Given the description of an element on the screen output the (x, y) to click on. 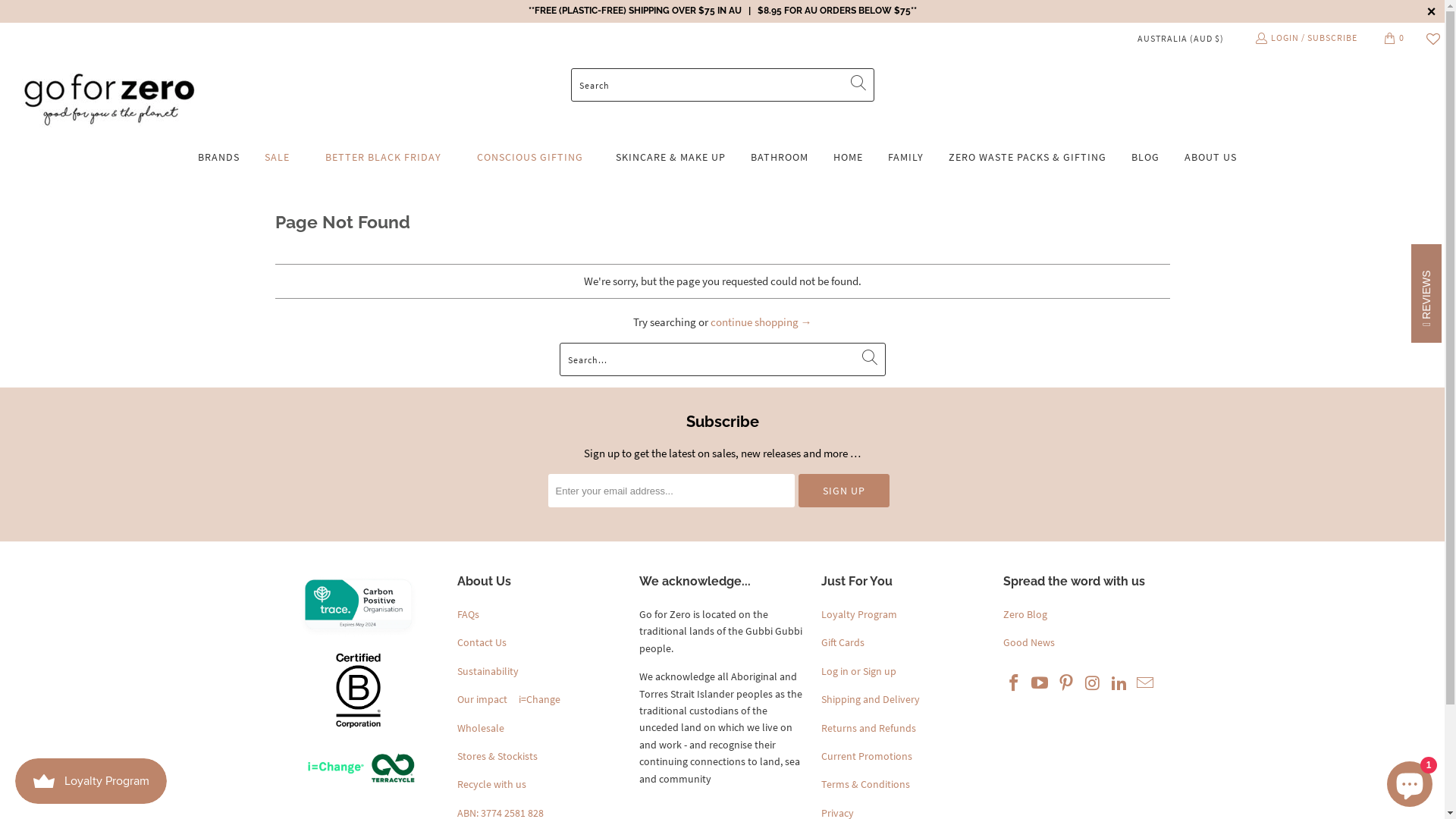
Email Go For Zero Element type: hover (1145, 683)
Go For Zero on Instagram Element type: hover (1093, 683)
Stores & Stockists Element type: text (496, 755)
Smile.io Rewards Program Launcher Element type: hover (90, 780)
Current Promotions Element type: text (865, 755)
Recycle with us Element type: text (490, 783)
Sustainability Element type: text (486, 670)
Sign Up Element type: text (842, 490)
Shipping and Delivery Element type: text (869, 699)
LOGIN / SUBSCRIBE Element type: text (1305, 37)
Good News Element type: text (1028, 642)
Go For Zero on Pinterest Element type: hover (1066, 683)
AUSTRALIA (AUD $) Element type: text (1174, 37)
SALE Element type: text (277, 156)
Gift Cards Element type: text (841, 642)
Contact Us Element type: text (480, 642)
Go For Zero on YouTube Element type: hover (1040, 683)
Wholesale Element type: text (479, 727)
Log in or Sign up Element type: text (857, 670)
Shopify online store chat Element type: hover (1409, 780)
Returns and Refunds Element type: text (867, 727)
Zero Blog Element type: text (1024, 614)
0 Element type: text (1394, 37)
Go For Zero on Facebook Element type: hover (1013, 683)
Go For Zero on LinkedIn Element type: hover (1118, 683)
FAQs Element type: text (467, 614)
Terms & Conditions Element type: text (864, 783)
Go For Zero Element type: hover (109, 99)
